Given the description of an element on the screen output the (x, y) to click on. 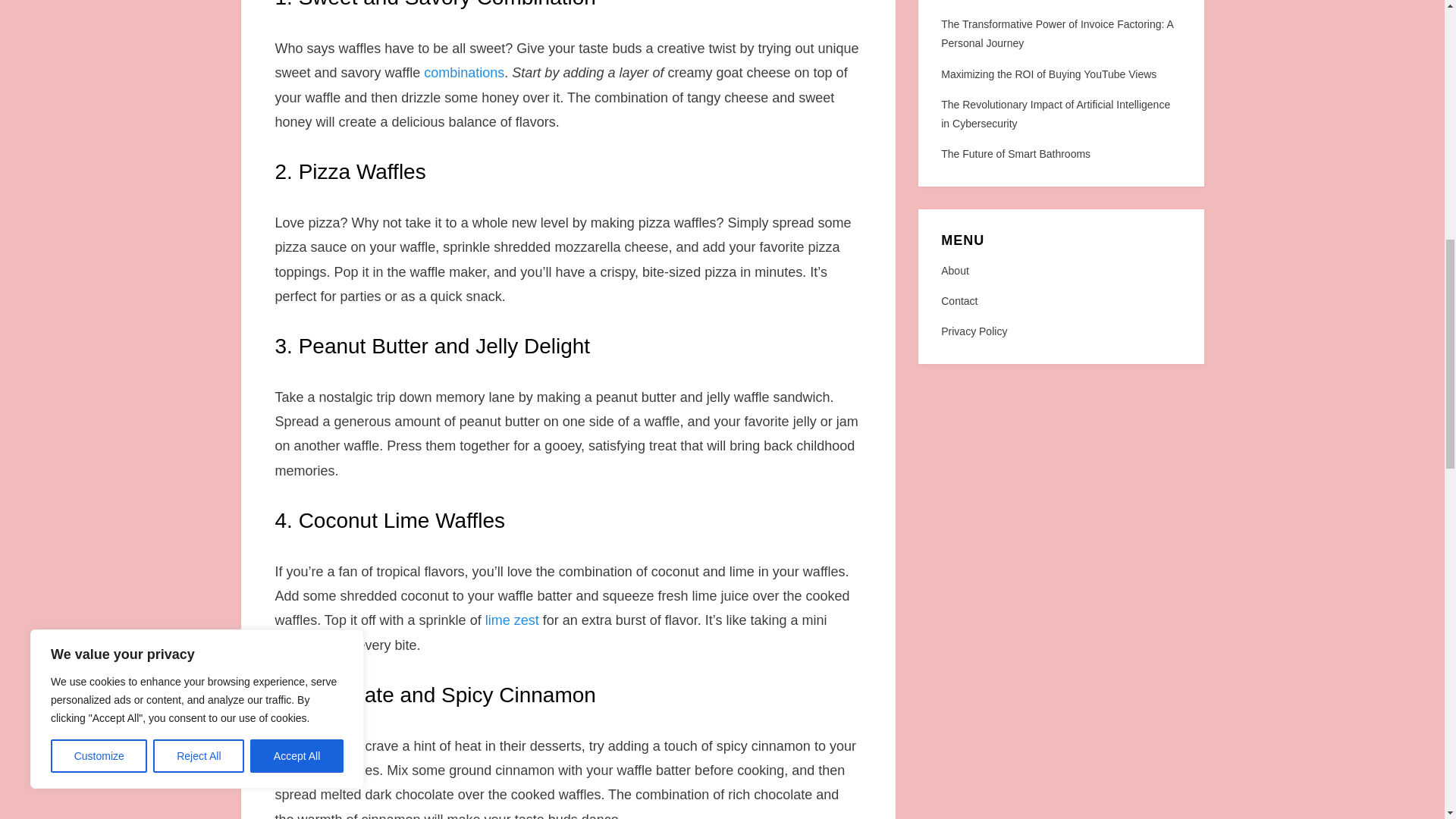
combinations (463, 72)
lime zest (511, 620)
